Given the description of an element on the screen output the (x, y) to click on. 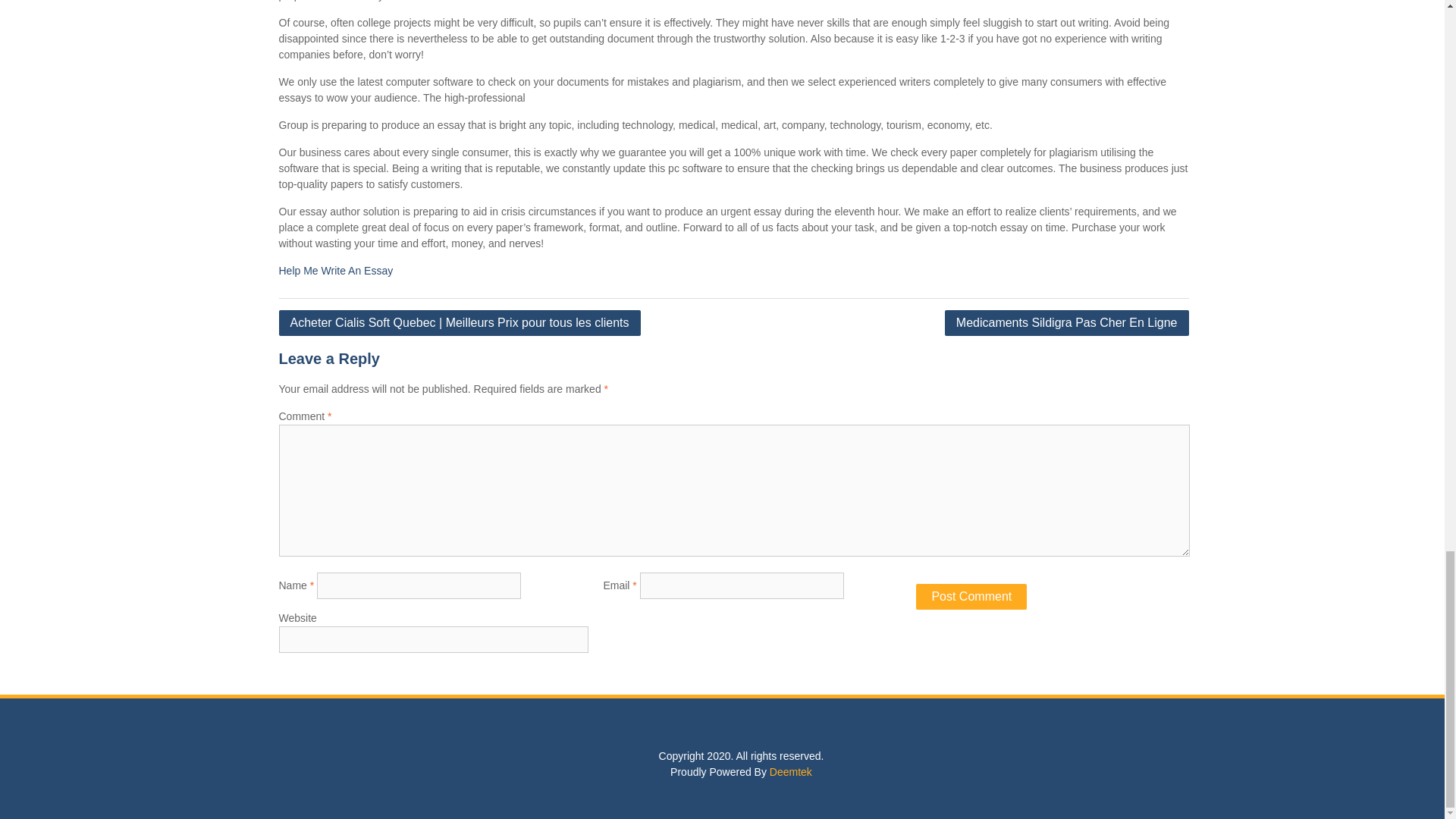
Post Comment (970, 596)
Help Me Write An Essay (336, 270)
Deemtek (791, 771)
Post Comment (970, 596)
Medicaments Sildigra Pas Cher En Ligne (1066, 322)
